Given the description of an element on the screen output the (x, y) to click on. 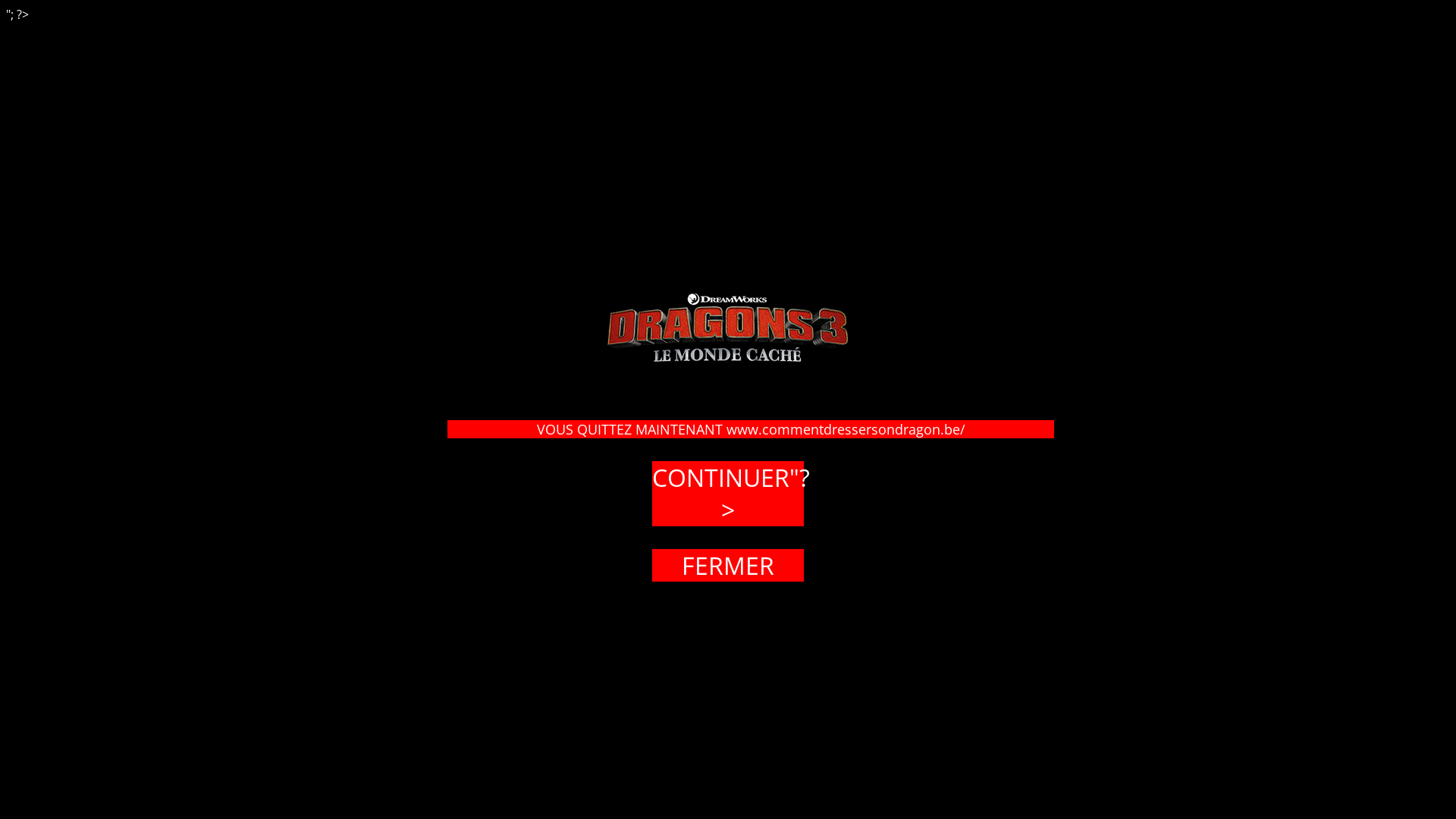
FERMER Element type: text (727, 565)
